Given the description of an element on the screen output the (x, y) to click on. 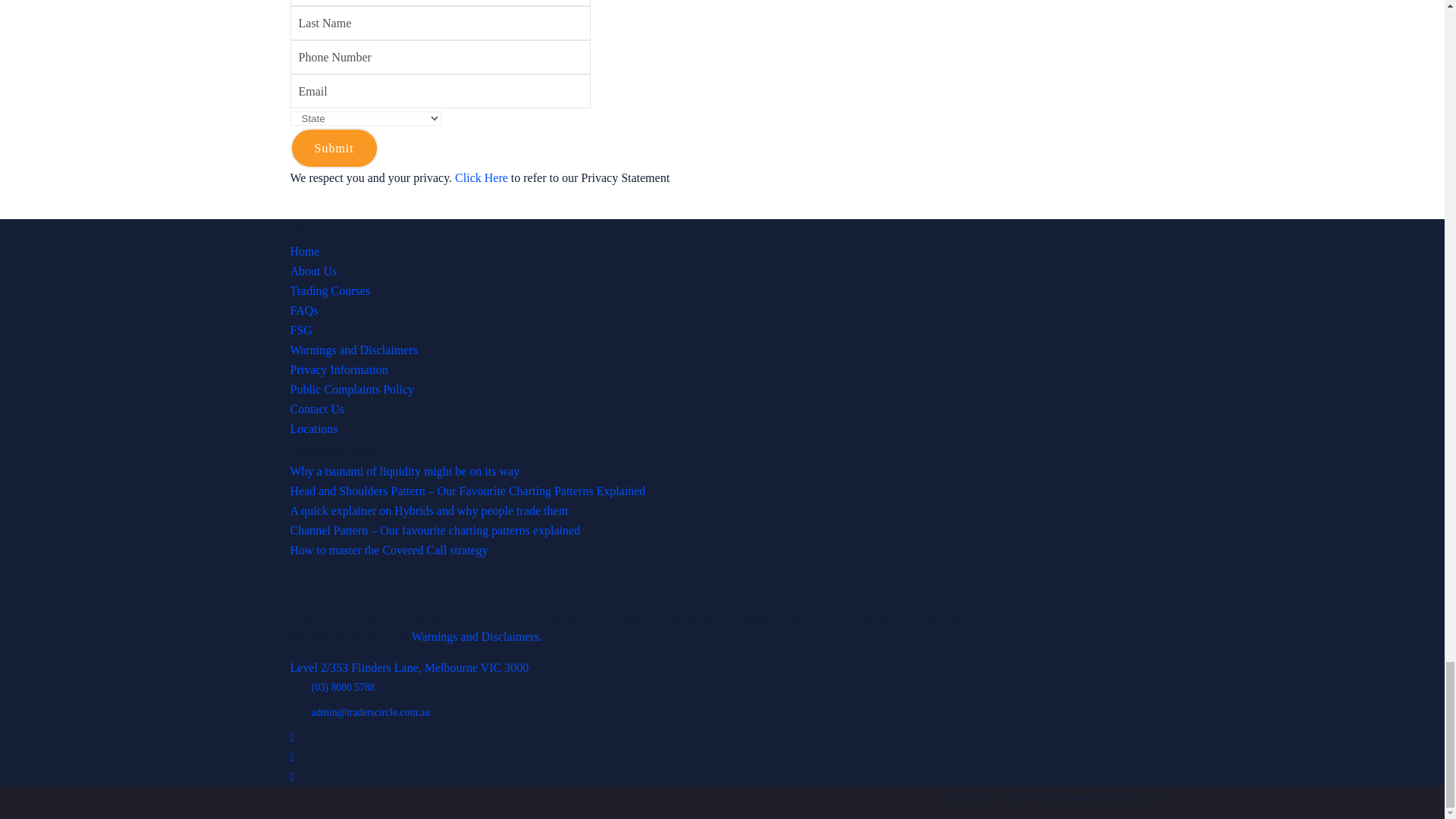
Submit (333, 147)
